Given the description of an element on the screen output the (x, y) to click on. 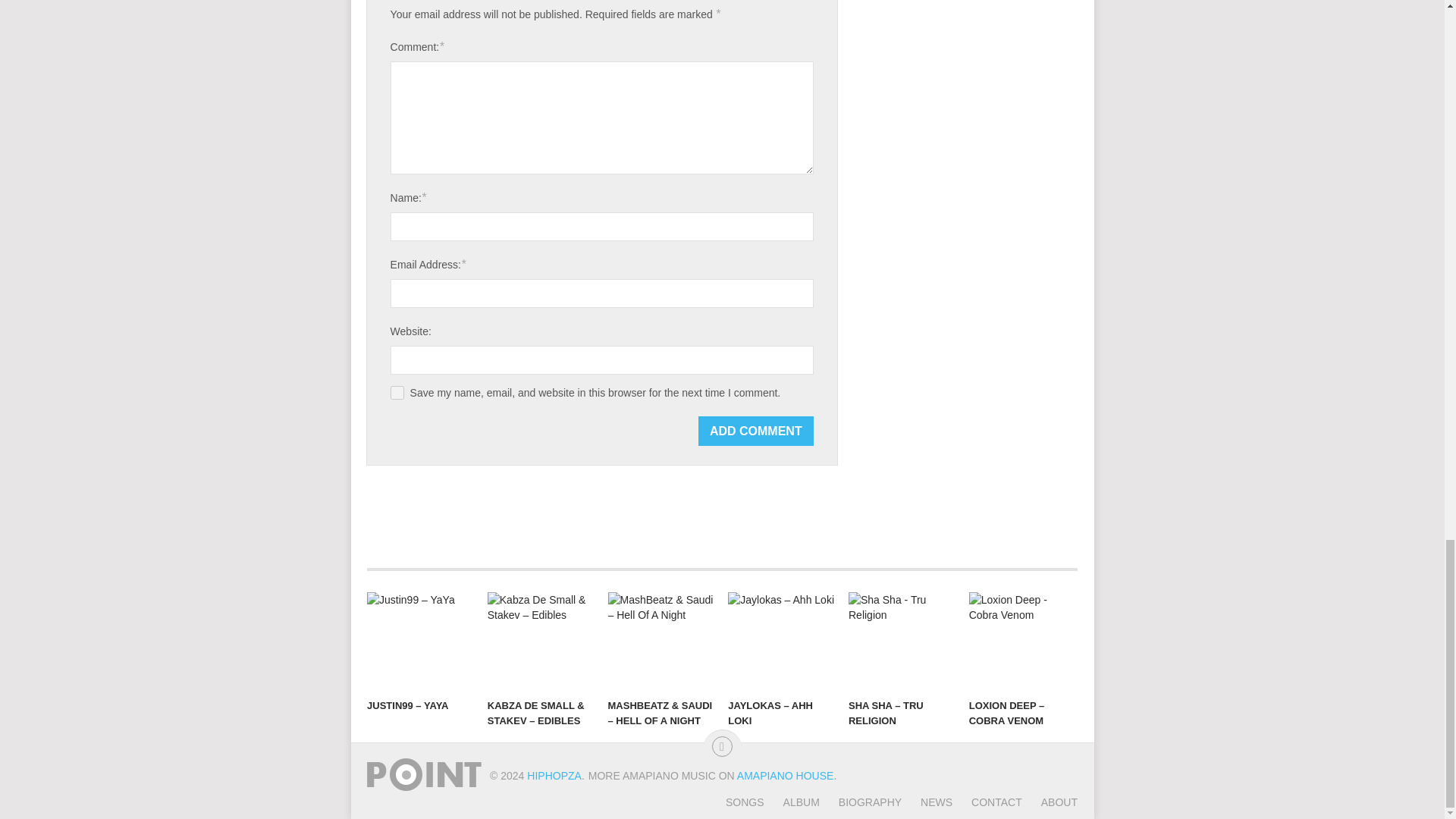
yes (397, 392)
Add Comment (755, 430)
Add Comment (755, 430)
